Given the description of an element on the screen output the (x, y) to click on. 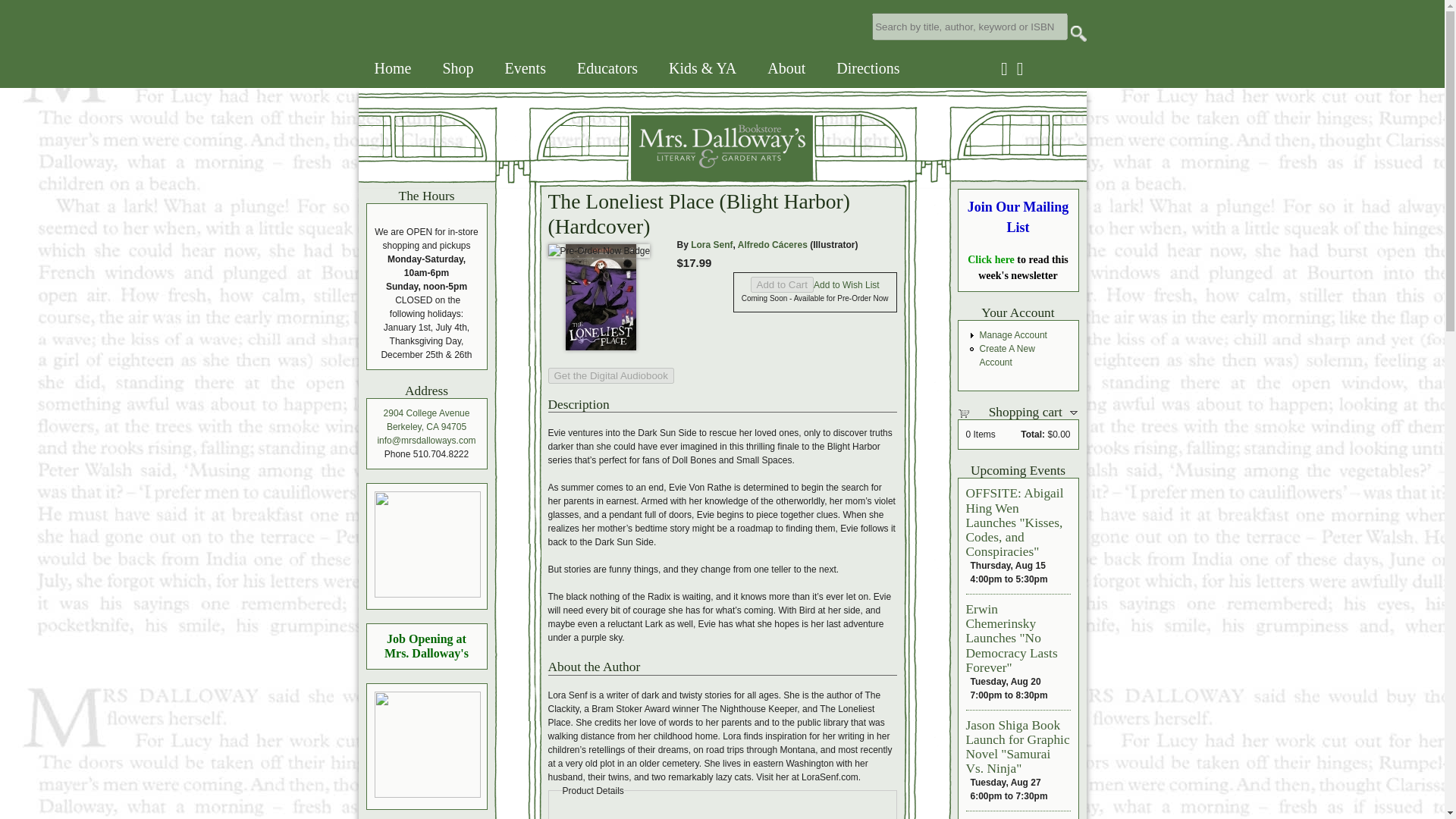
View your shopping cart. (968, 412)
Educators (607, 68)
Add to Cart (782, 284)
Skip to navigation (21, 0)
About (786, 68)
Directions (867, 68)
Home (392, 68)
Lora Senf (711, 244)
Shop (456, 68)
Home (585, 176)
